Given the description of an element on the screen output the (x, y) to click on. 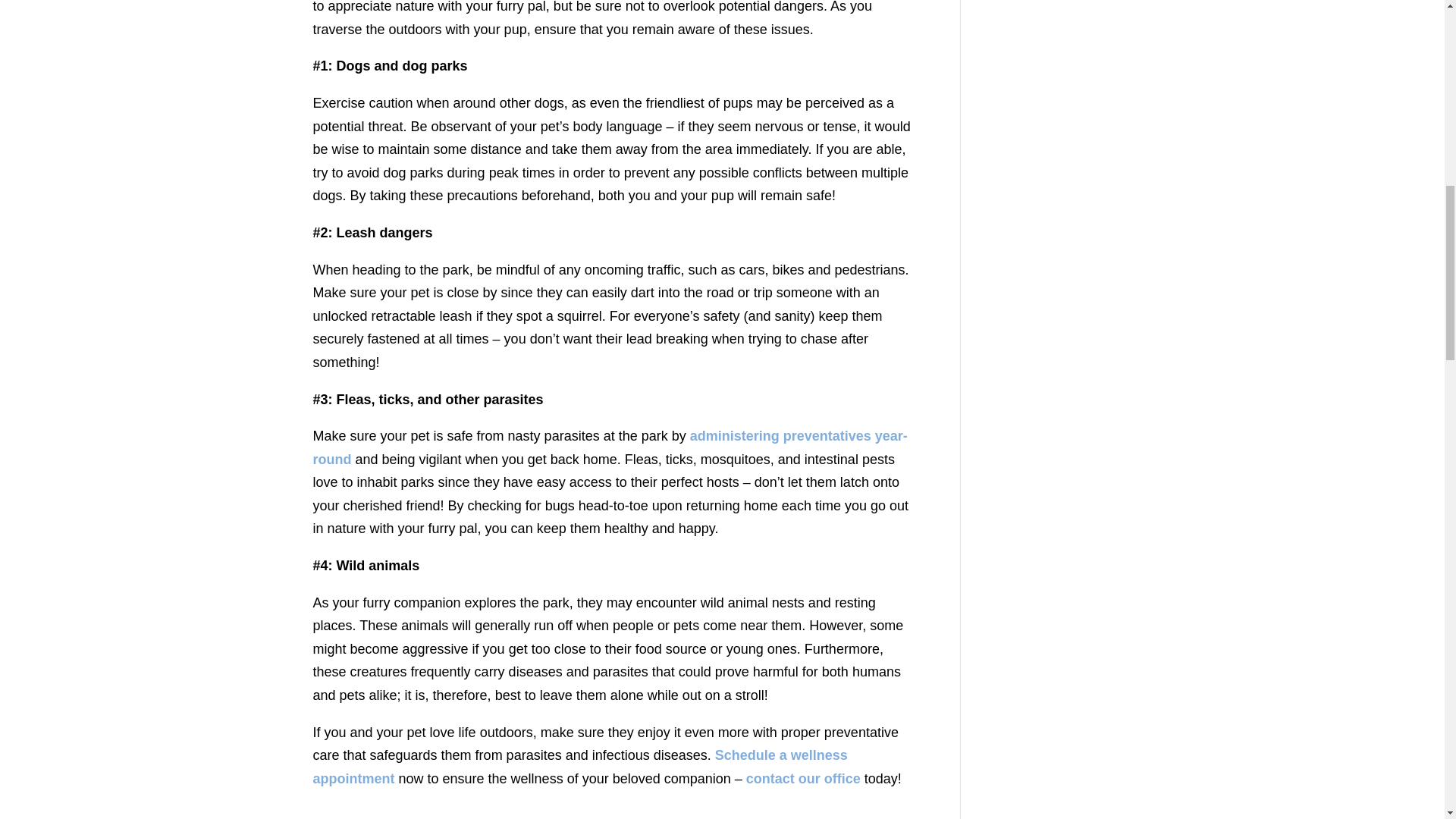
administering preventatives year-round (610, 447)
contact our office (802, 778)
Schedule a wellness appointment (580, 766)
